Given the description of an element on the screen output the (x, y) to click on. 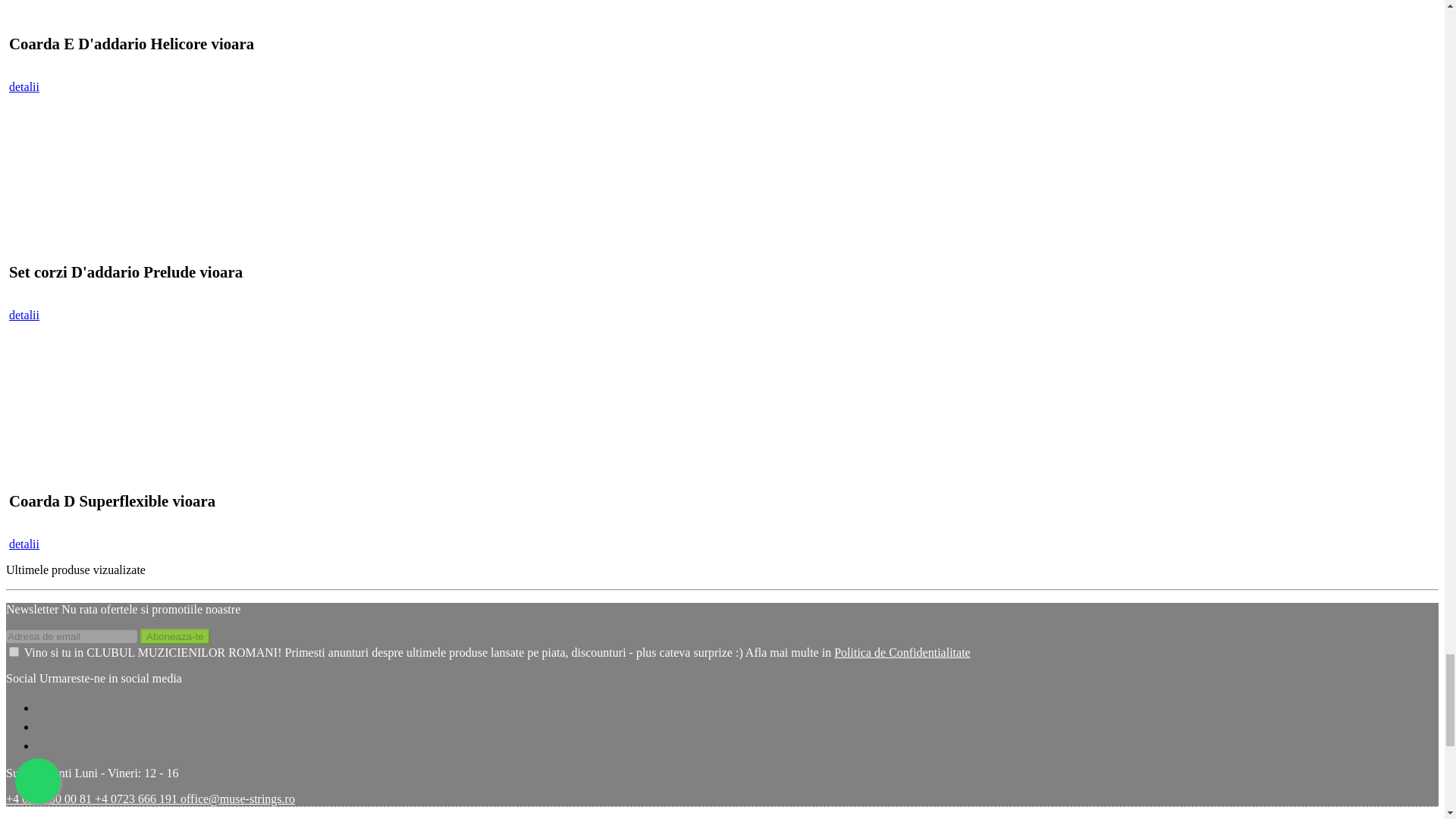
Aboneaza-te (174, 636)
71c765a4f37add4e6a8e63b7925b9012 (13, 651)
